Given the description of an element on the screen output the (x, y) to click on. 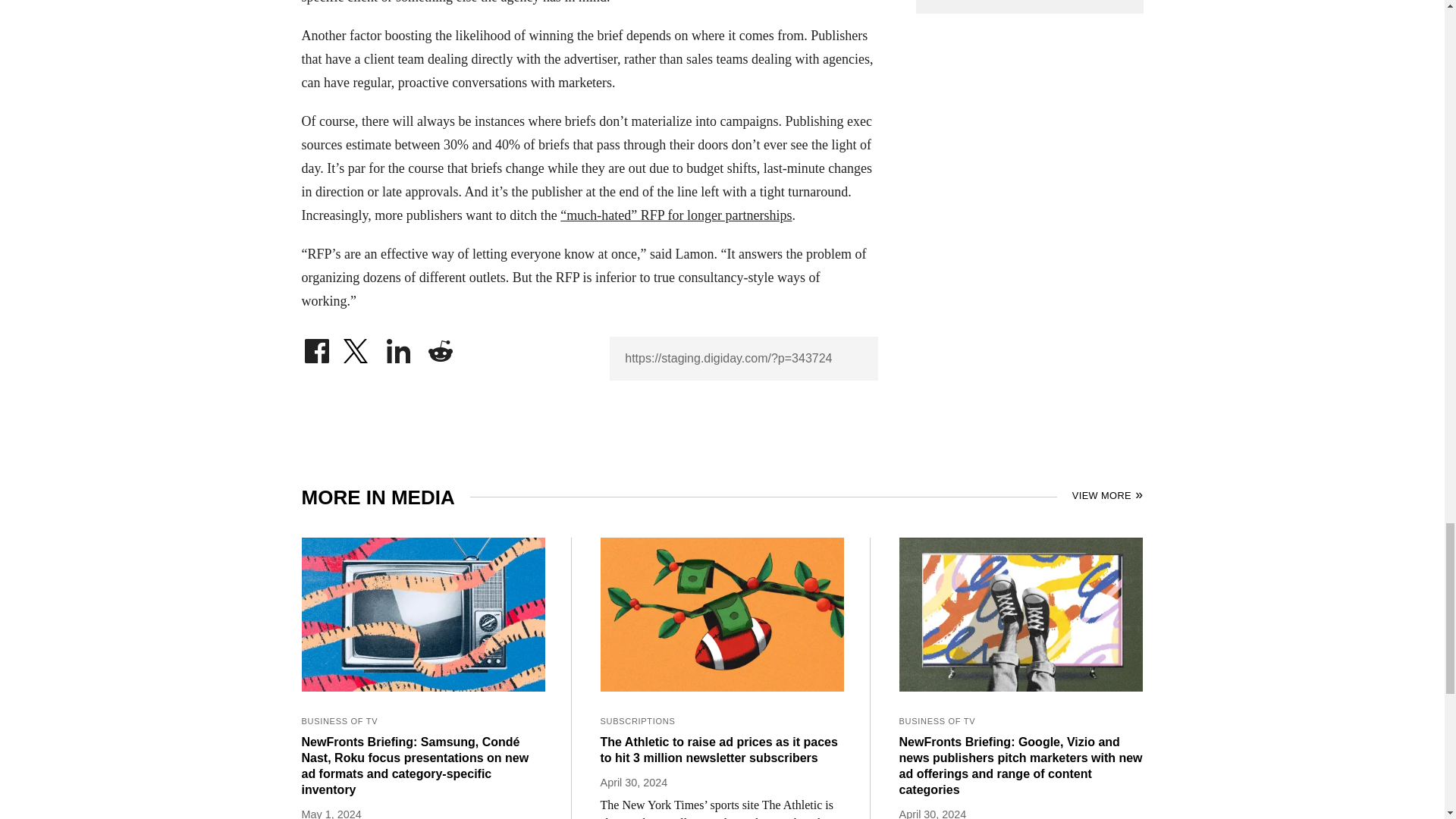
Share on Reddit (440, 346)
Share on LinkedIn (398, 346)
Share on Twitter (357, 346)
Share on Facebook (316, 346)
